Given the description of an element on the screen output the (x, y) to click on. 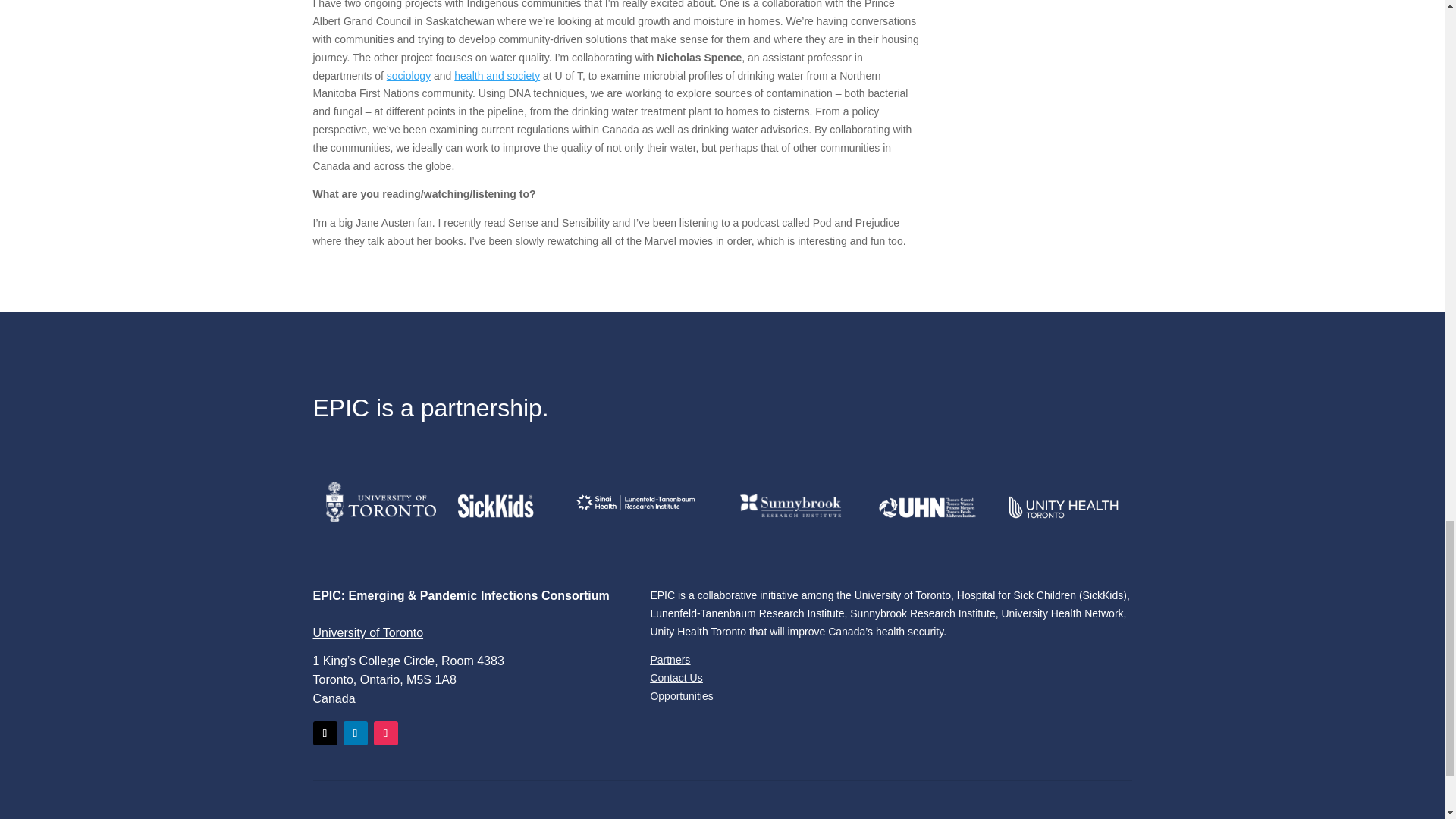
UHN (926, 506)
UofT (381, 501)
sunnybrook (790, 505)
